Given the description of an element on the screen output the (x, y) to click on. 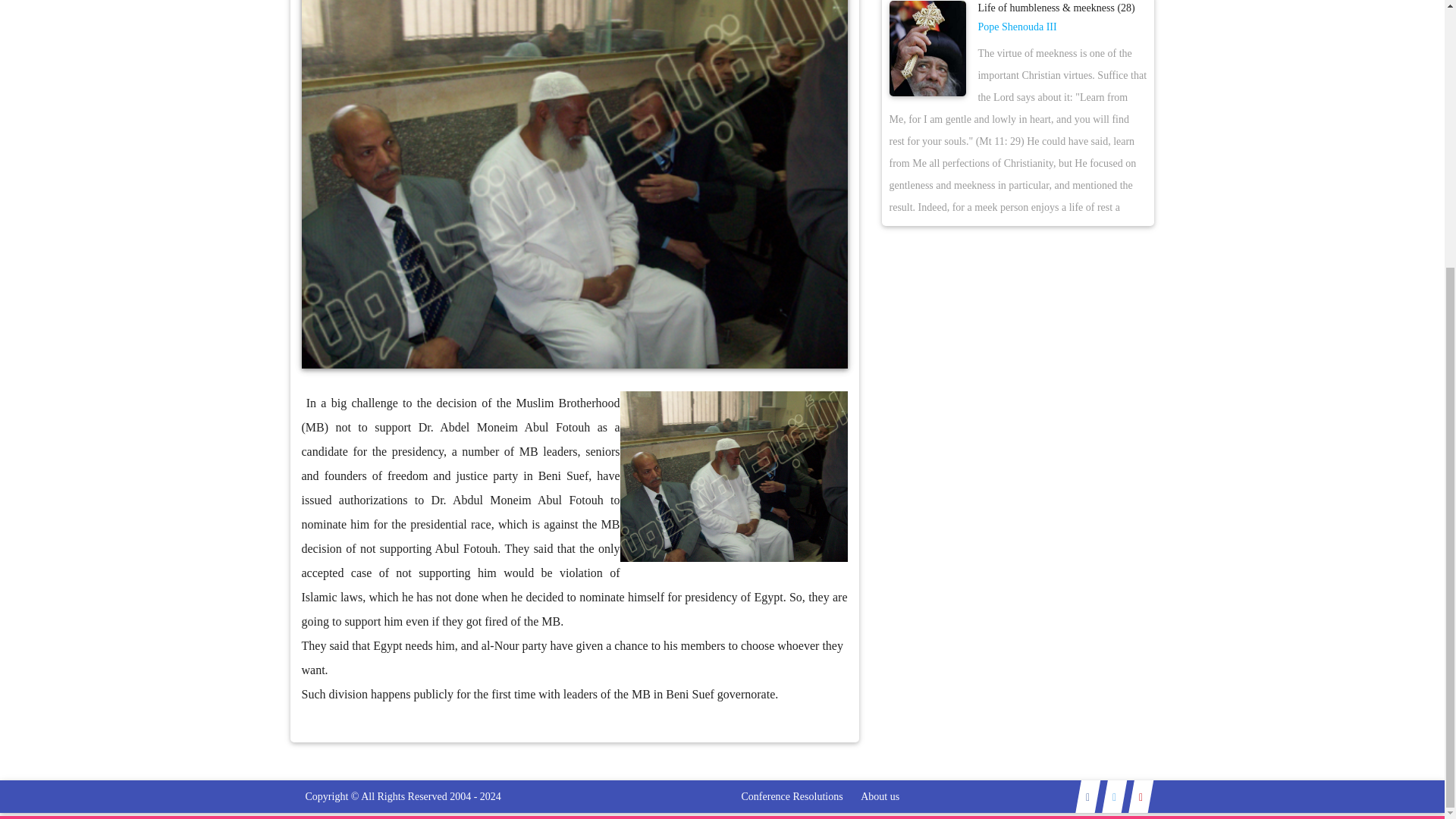
About us (879, 796)
Conference Resolutions (792, 796)
